Given the description of an element on the screen output the (x, y) to click on. 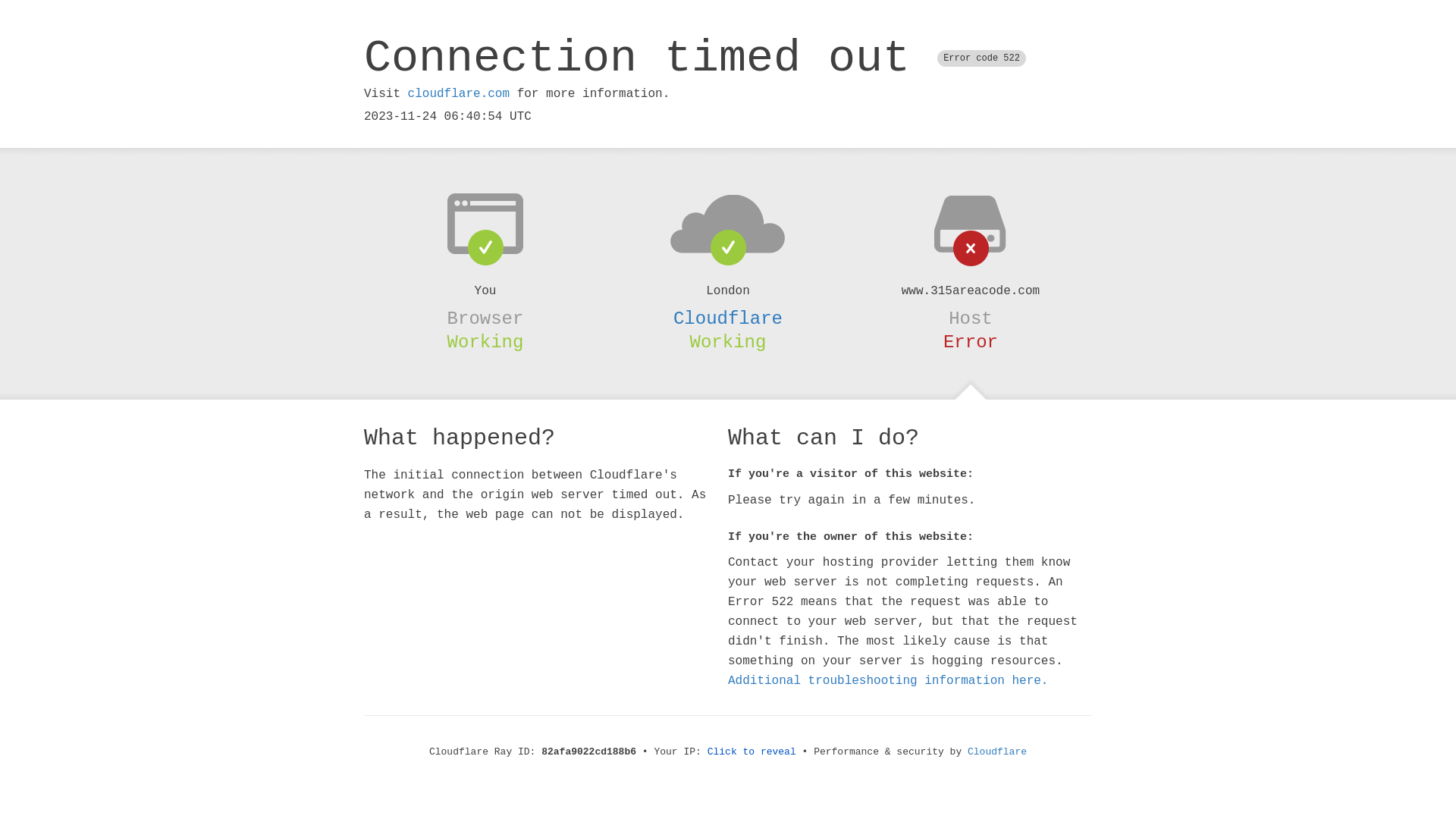
Additional troubleshooting information here. Element type: text (888, 680)
Cloudflare Element type: text (727, 318)
cloudflare.com Element type: text (458, 93)
Click to reveal Element type: text (751, 751)
Cloudflare Element type: text (996, 751)
